Given the description of an element on the screen output the (x, y) to click on. 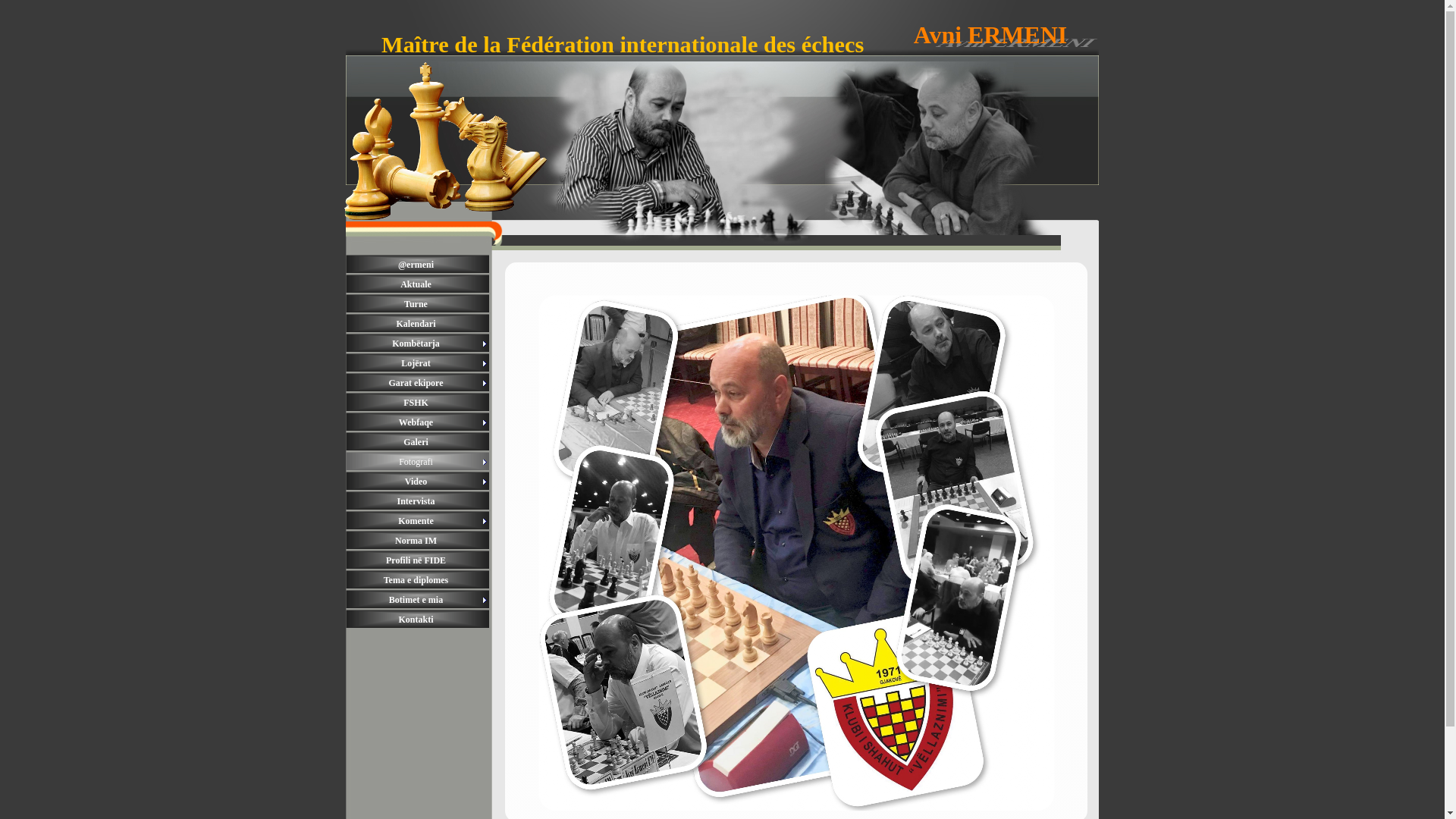
Kalendari Element type: text (417, 323)
Kontakti Element type: text (417, 619)
Turne Element type: text (417, 303)
Norma IM Element type: text (417, 540)
FSHK Element type: text (417, 402)
Tema e diplomes Element type: text (417, 579)
Galeri Element type: text (417, 441)
@ermeni Element type: text (417, 264)
Intervista Element type: text (417, 501)
Aktuale Element type: text (417, 284)
